Given the description of an element on the screen output the (x, y) to click on. 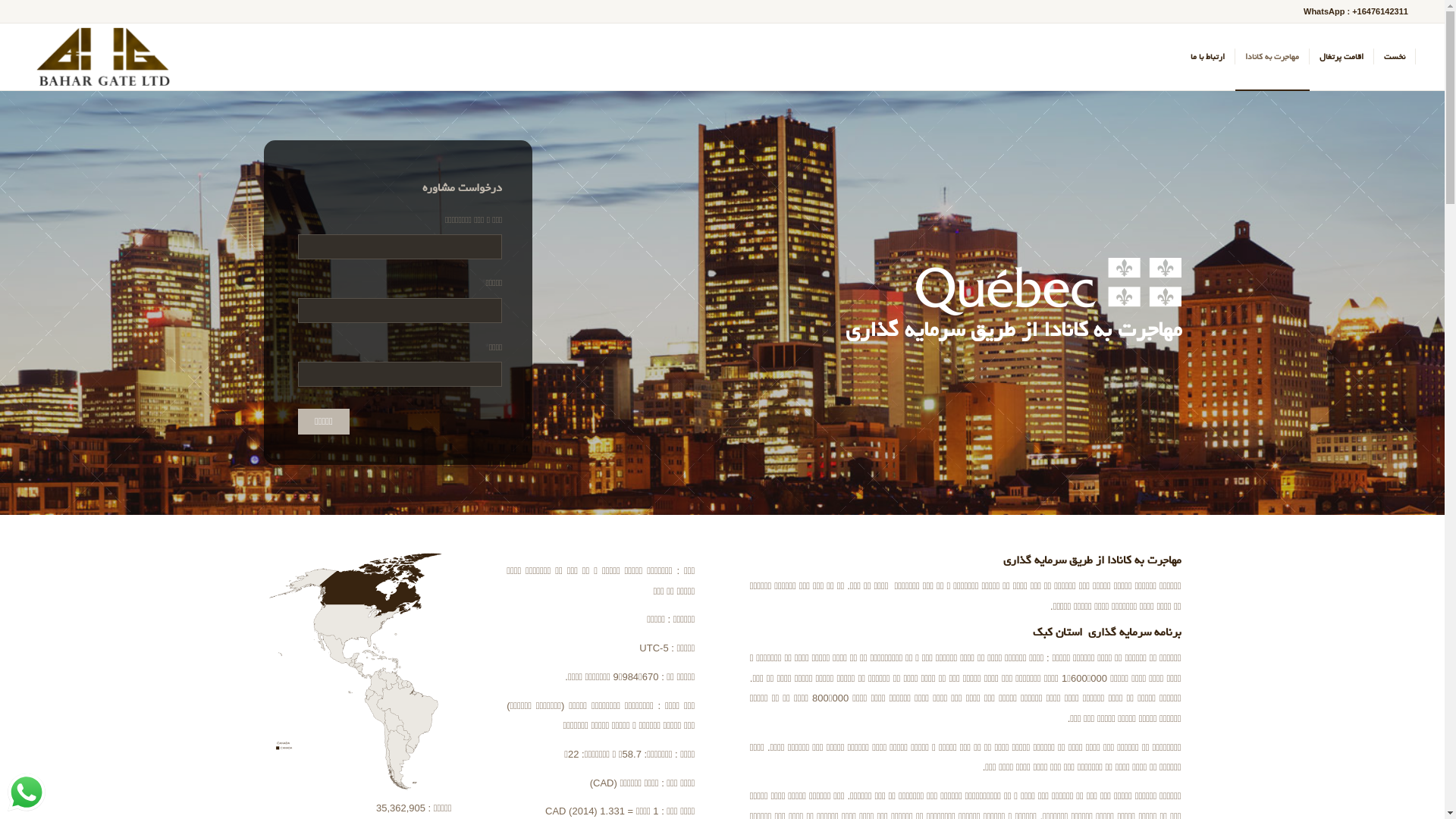
WhatsApp us Element type: hover (26, 792)
WhatsApp : +16476142311 Element type: text (1355, 11)
